Given the description of an element on the screen output the (x, y) to click on. 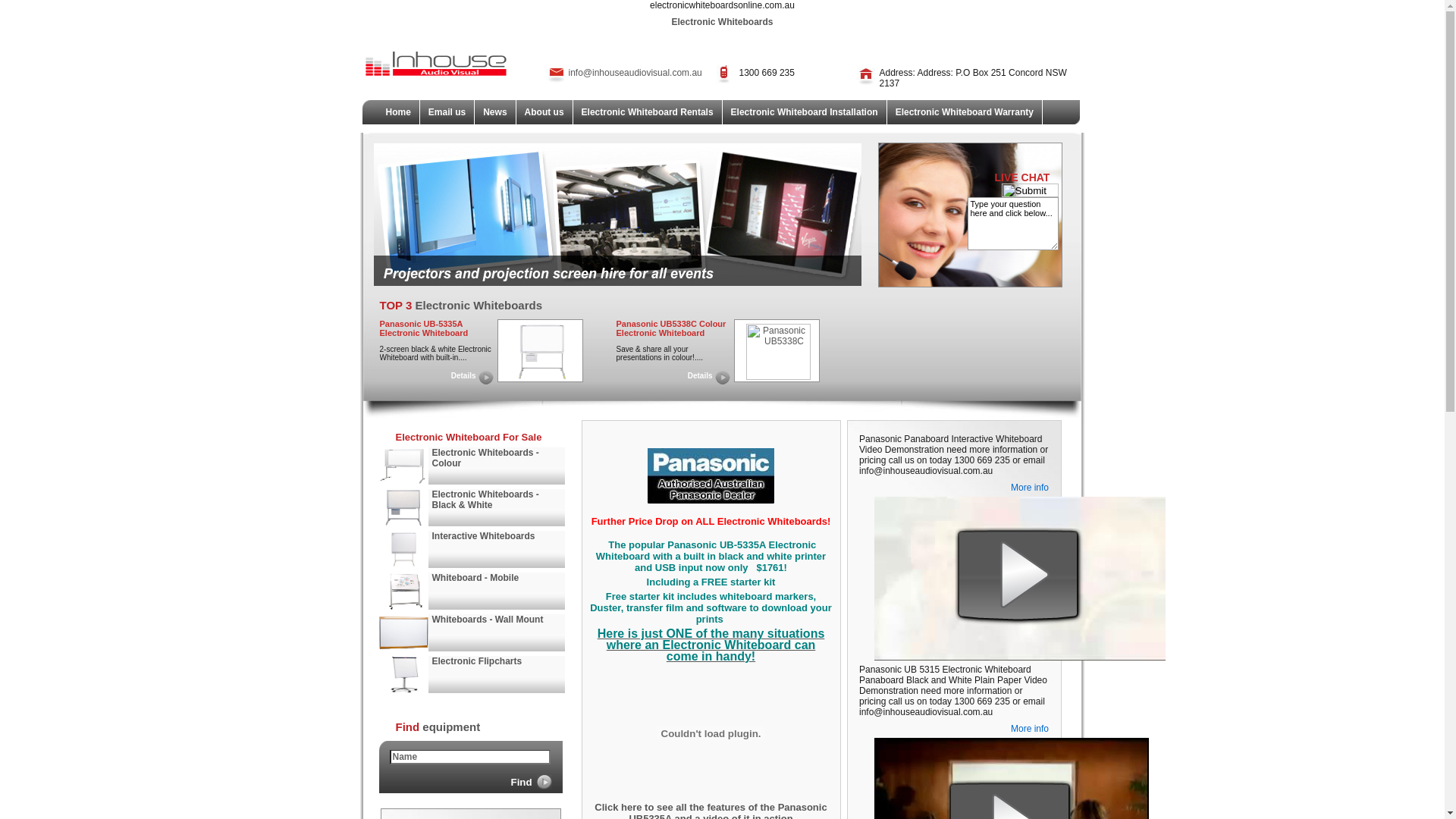
Electronic Flipcharts Element type: text (477, 660)
Mobile Whiteboards Element type: hover (403, 590)
Whiteboards - Wall Mount Element type: text (487, 619)
News Element type: text (494, 112)
Electronic Whiteboards Element type: hover (403, 507)
Interactive Whiteboads Element type: hover (403, 548)
Find Element type: text (529, 781)
Home Element type: text (398, 112)
Details Element type: text (696, 376)
Whiteboard - Mobile Element type: text (475, 577)
Electronic Whiteboards Element type: hover (403, 465)
Electronic Whiteboard Installation Element type: text (804, 112)
Panasonic UB5338C Colour Electronic Whiteboard Element type: hover (778, 376)
Interactive Whiteboards Element type: text (483, 535)
info@inhouseaudiovisual.com.au Element type: text (635, 72)
More info Element type: text (1029, 487)
Panasonic UB-5335A Element type: hover (541, 351)
Inhouse - Audio Visual Element type: hover (434, 76)
Electronic Whiteboard Warranty Element type: text (964, 112)
Banner2 Element type: hover (616, 214)
Electronic Whiteboards - Colour Element type: text (485, 457)
Electronic Whiteboards - Black & White Element type: text (485, 499)
Electronic Whiteboard Rentals Element type: text (647, 112)
Wall Mount Whiteboards Element type: hover (403, 632)
Electronic Flipcharts Element type: hover (403, 674)
Banner2 Element type: hover (616, 282)
Panasonic UB-5335A Electronic Whiteboard Element type: hover (541, 376)
Details Element type: text (459, 376)
Email us Element type: text (447, 112)
Panasonic UB5338C Element type: hover (778, 351)
Name Element type: text (469, 756)
More info Element type: text (1029, 728)
logo Element type: hover (434, 63)
About us Element type: text (544, 112)
